Given the description of an element on the screen output the (x, y) to click on. 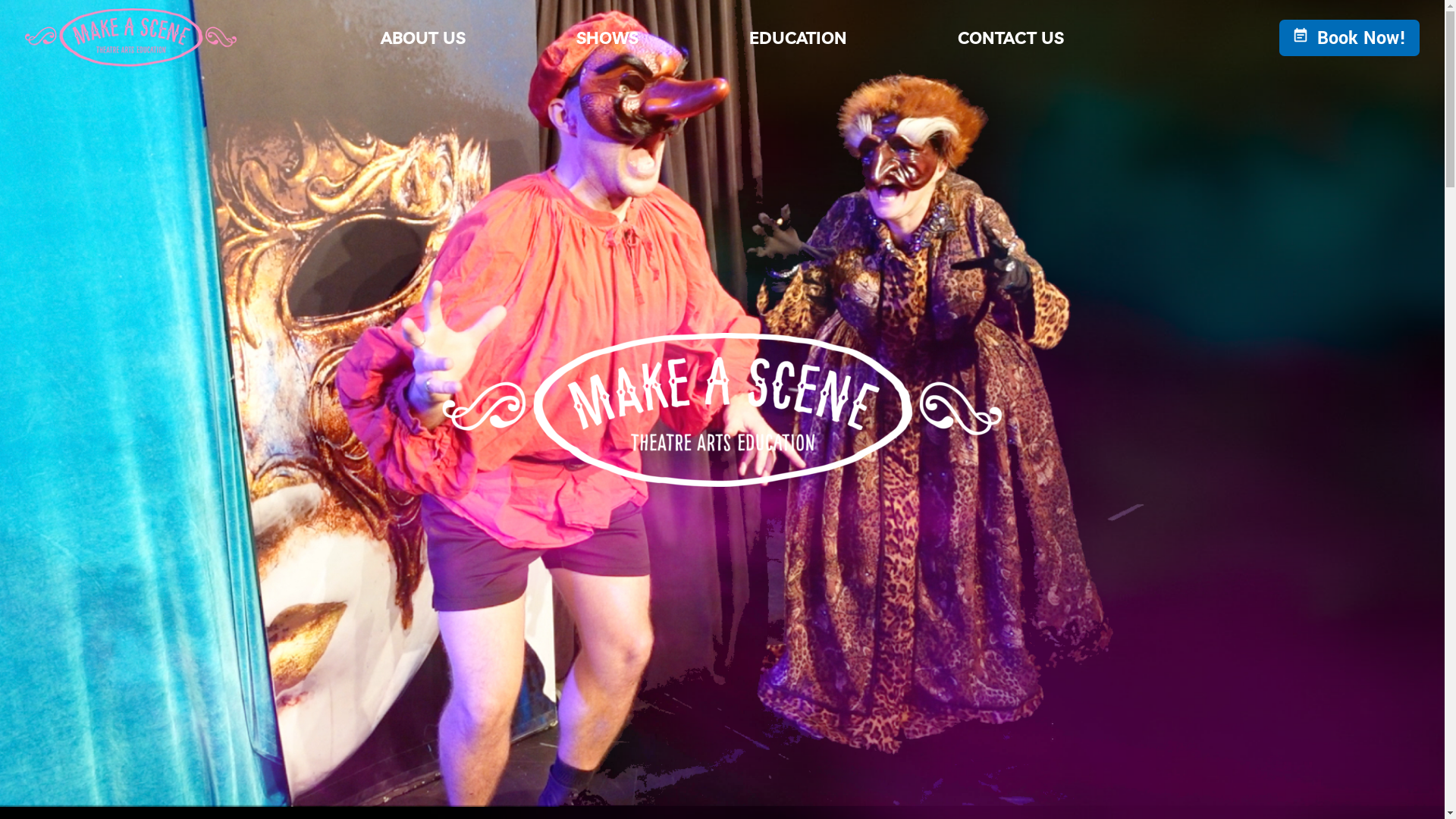
CONTACT US Element type: text (1010, 37)
event_noteBook Now! Element type: text (1349, 37)
EDUCATION Element type: text (784, 37)
SHOWS Element type: text (593, 37)
ABOUT US Element type: text (409, 37)
